Given the description of an element on the screen output the (x, y) to click on. 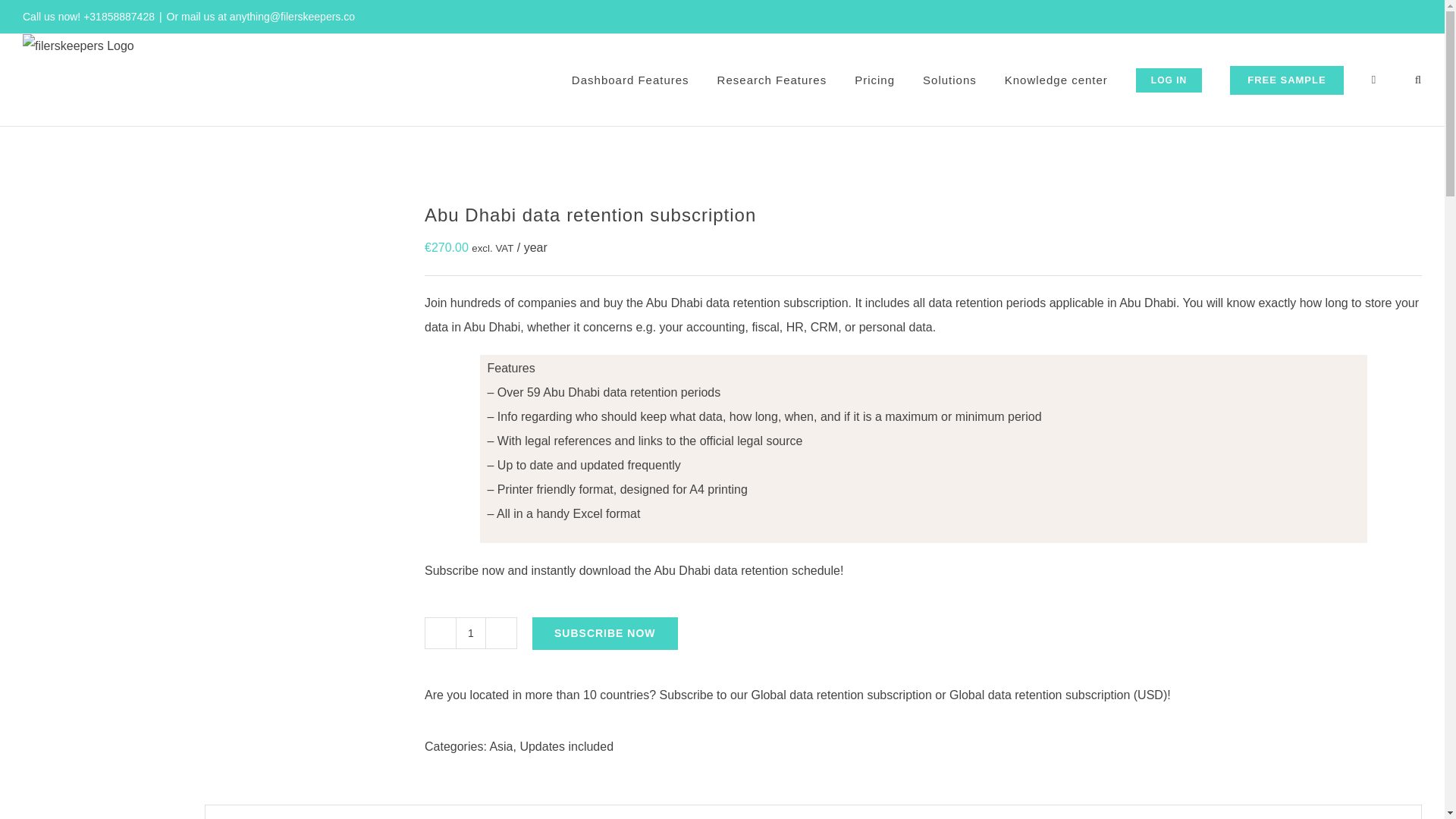
1 (470, 633)
Knowledge center (1056, 80)
Dashboard Features (630, 80)
FREE SAMPLE (1286, 80)
Research Features (772, 80)
